Given the description of an element on the screen output the (x, y) to click on. 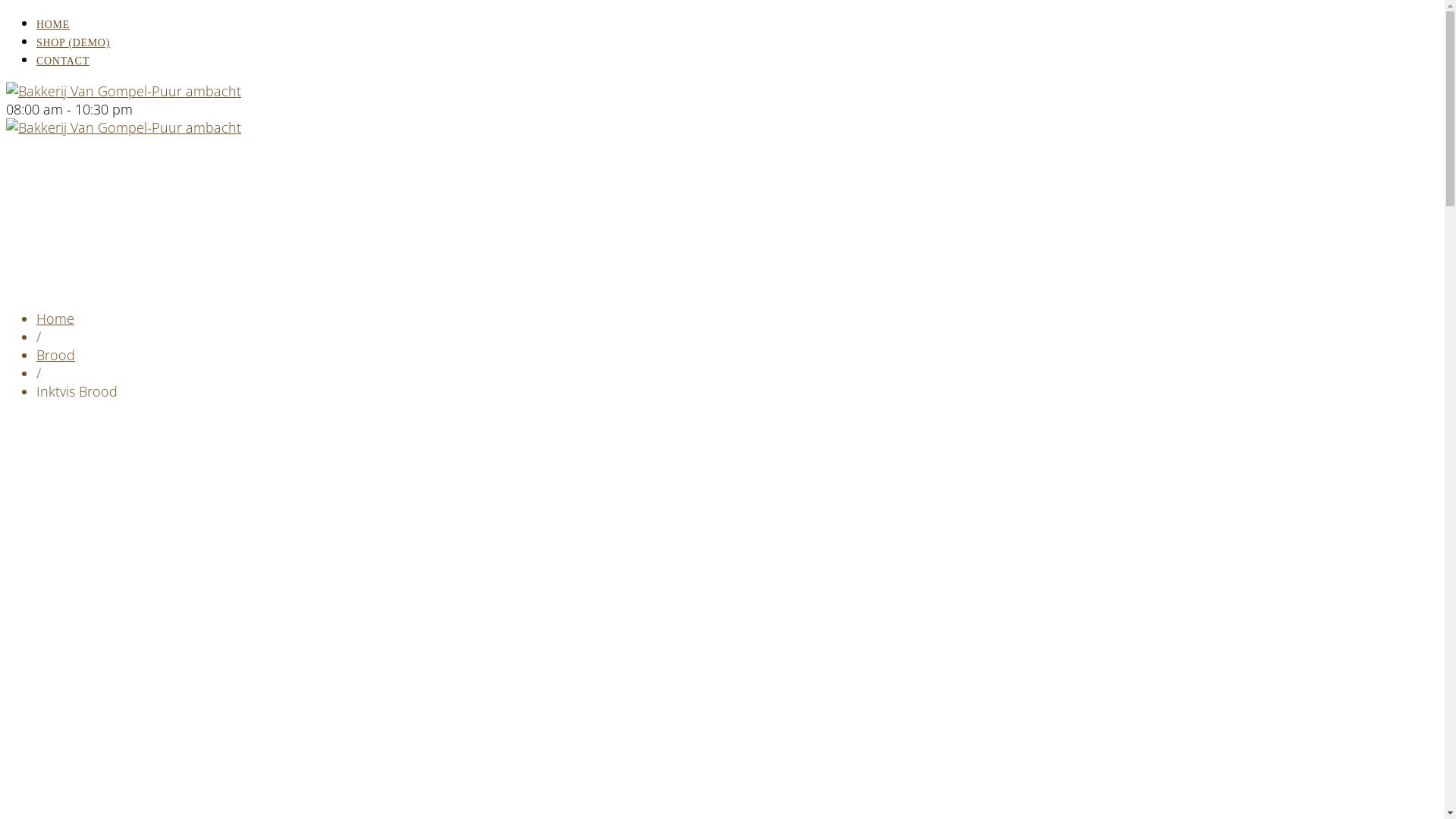
Brood Element type: text (55, 354)
Home Element type: text (55, 318)
HOME Element type: text (52, 24)
Bakkerij Van Gompel-Puur ambacht Element type: hover (123, 127)
Bakkerij Van Gompel-Puur ambacht Element type: hover (123, 90)
CONTACT Element type: text (62, 60)
SHOP (DEMO) Element type: text (72, 42)
